Given the description of an element on the screen output the (x, y) to click on. 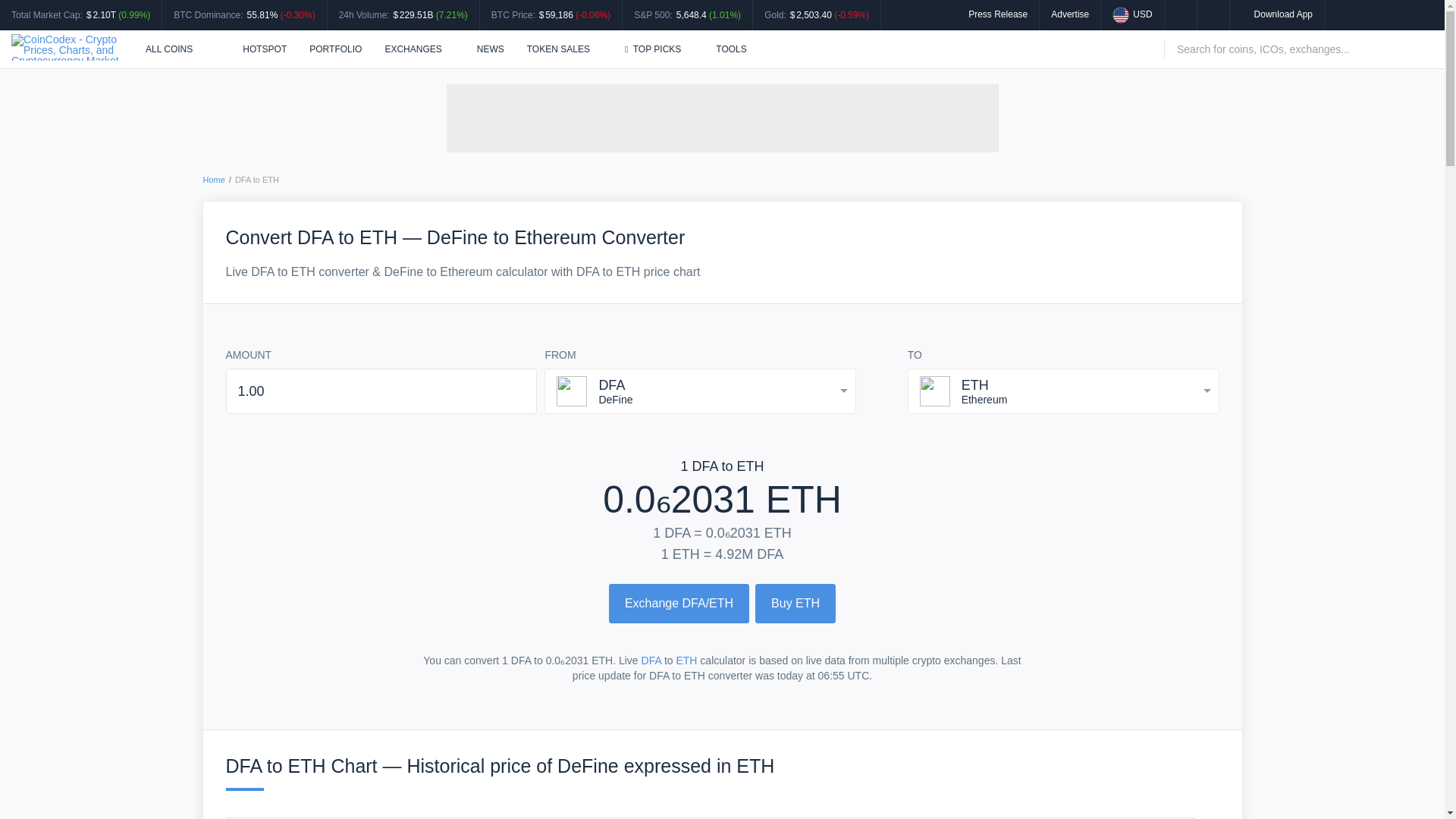
1.00 (381, 391)
Press Release (997, 14)
NEWS (490, 48)
Buy ETH (795, 603)
ETH (686, 660)
Advertise (1070, 14)
PORTFOLIO (335, 48)
DFA (651, 660)
Home (214, 179)
HOTSPOT (256, 48)
